Given the description of an element on the screen output the (x, y) to click on. 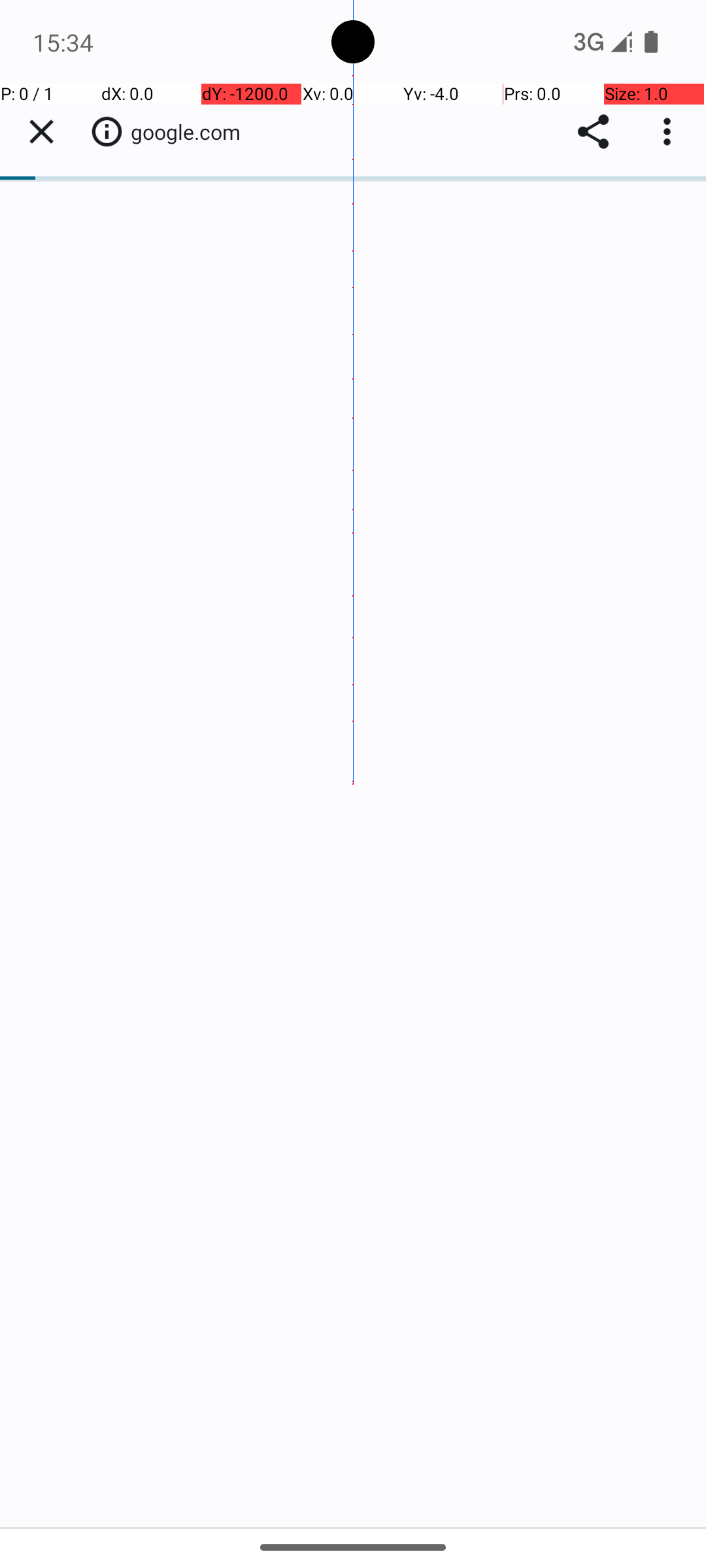
Web View Element type: android.widget.FrameLayout (353, 804)
Close tab Element type: android.widget.ImageButton (41, 131)
Your connection to this site is not secure Element type: android.widget.ImageButton (106, 131)
Share Element type: android.widget.ImageButton (593, 131)
More options Element type: android.widget.ImageButton (670, 131)
google.com Element type: android.widget.TextView (192, 131)
